Given the description of an element on the screen output the (x, y) to click on. 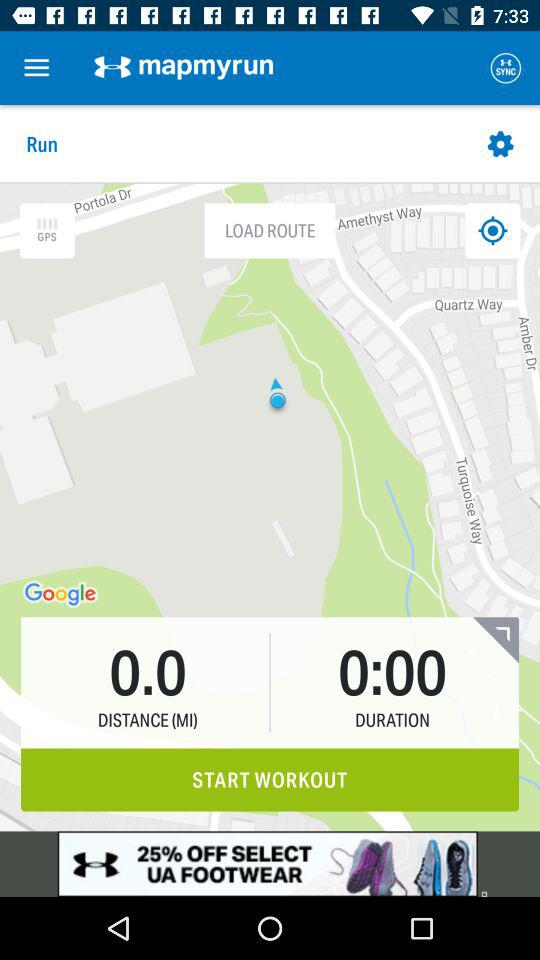
current location (492, 230)
